Given the description of an element on the screen output the (x, y) to click on. 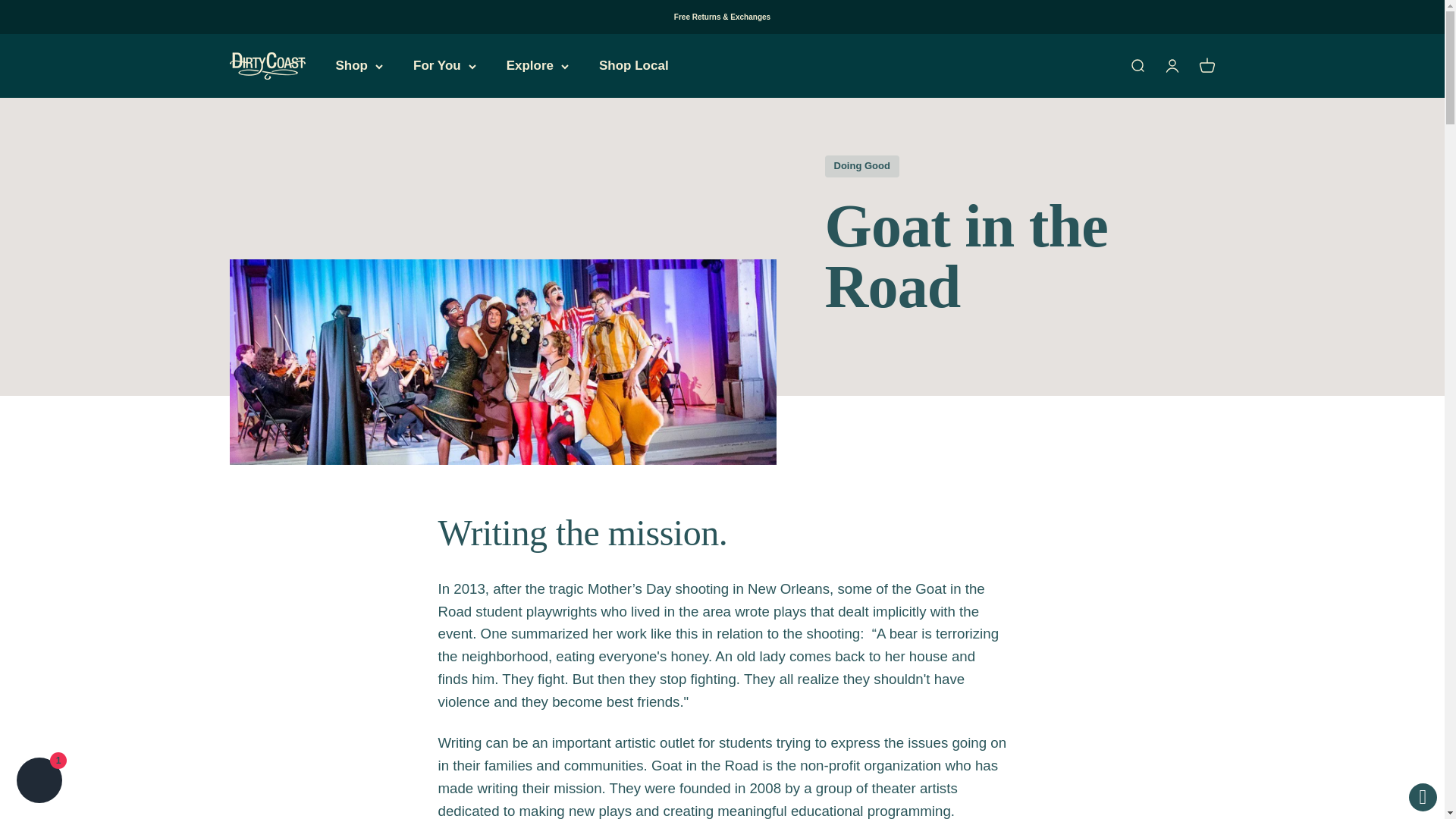
Shopify online store chat (38, 781)
